Given the description of an element on the screen output the (x, y) to click on. 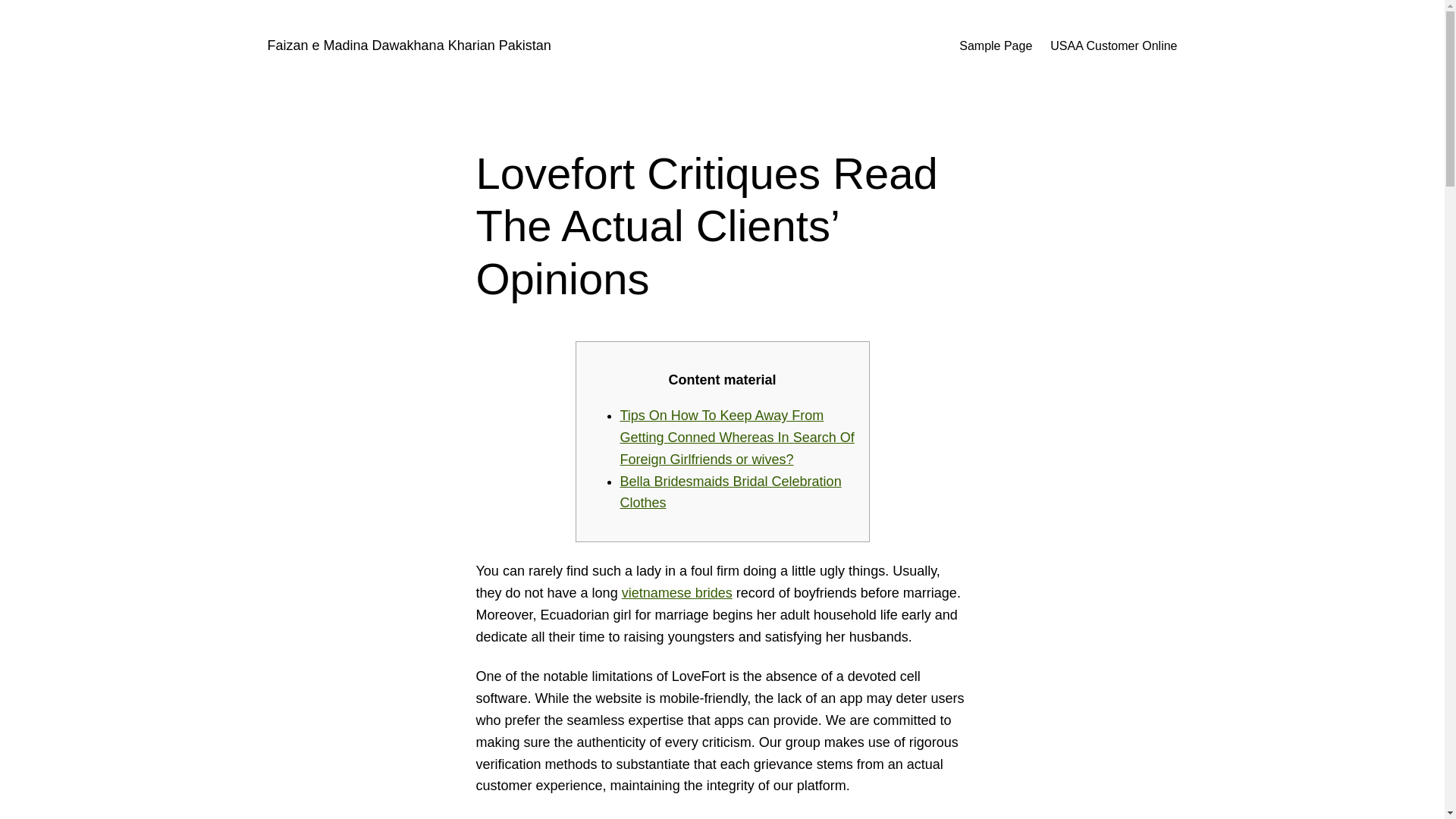
Bella Bridesmaids Bridal Celebration Clothes (730, 492)
Faizan e Madina Dawakhana Kharian Pakistan (408, 45)
vietnamese brides (676, 592)
Sample Page (995, 46)
USAA Customer Online (1112, 46)
